Given the description of an element on the screen output the (x, y) to click on. 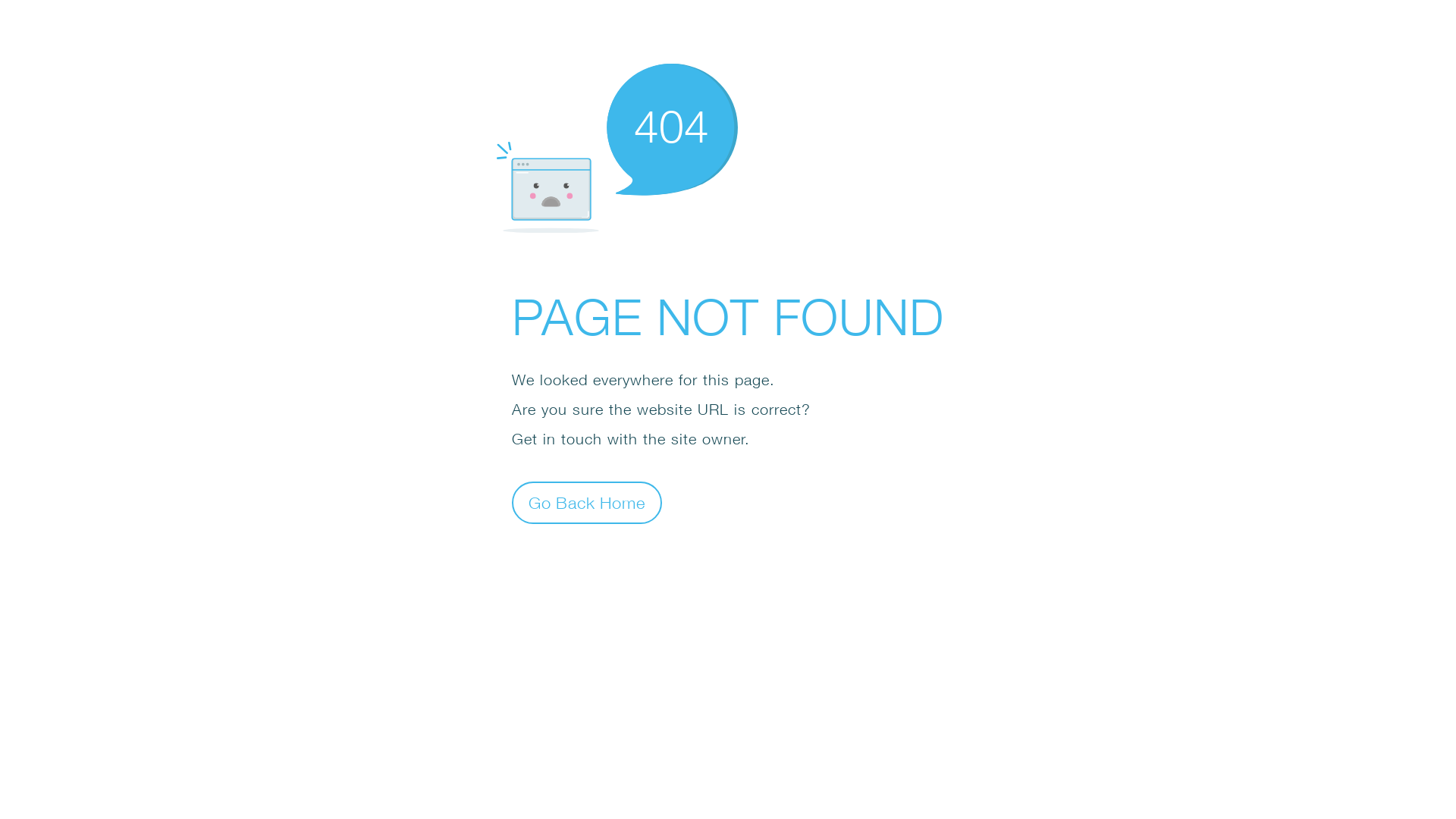
Go Back Home Element type: text (586, 502)
